Given the description of an element on the screen output the (x, y) to click on. 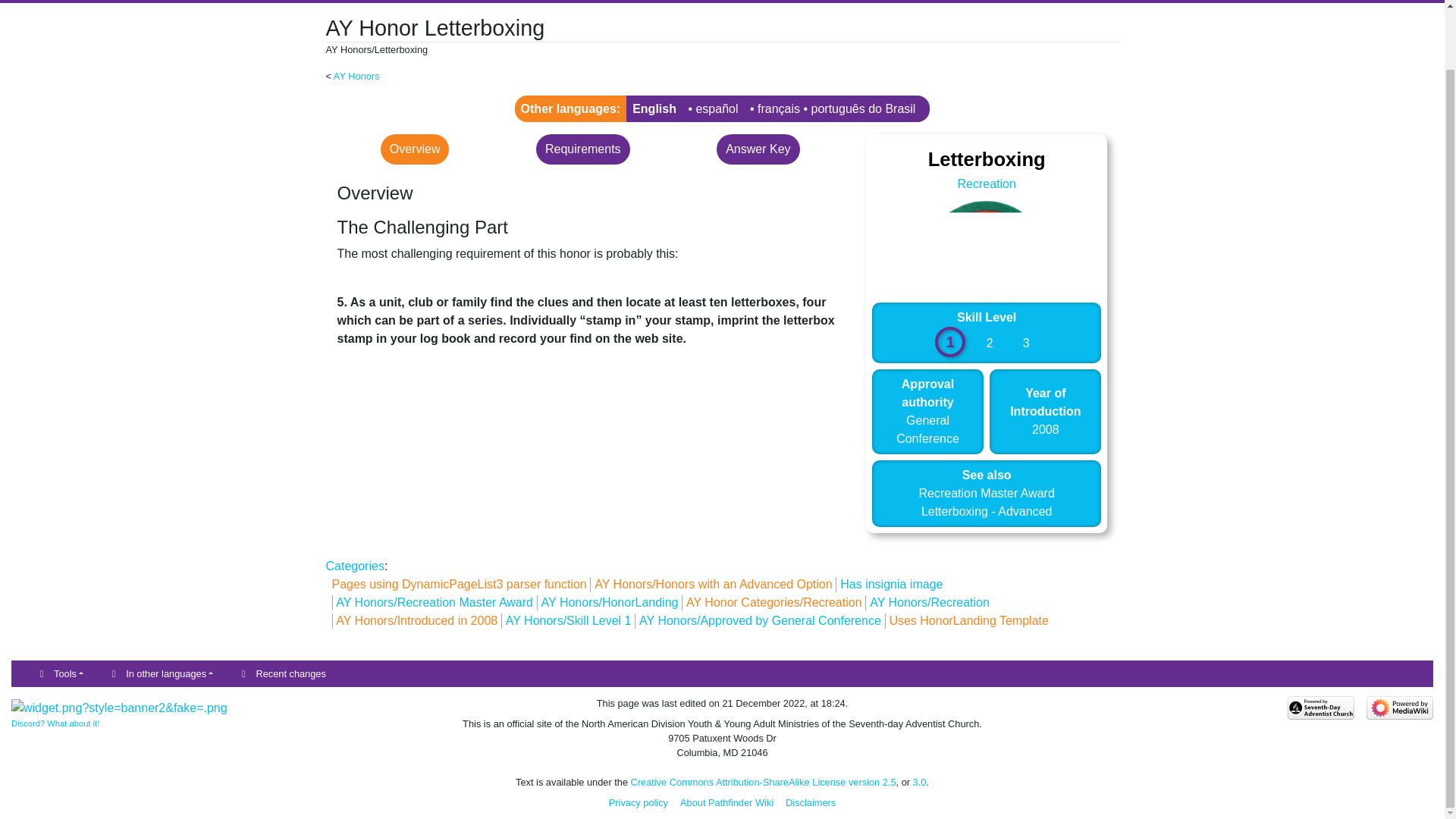
Start translation for this language (778, 108)
Recreation (985, 183)
AY Honors (356, 75)
